Given the description of an element on the screen output the (x, y) to click on. 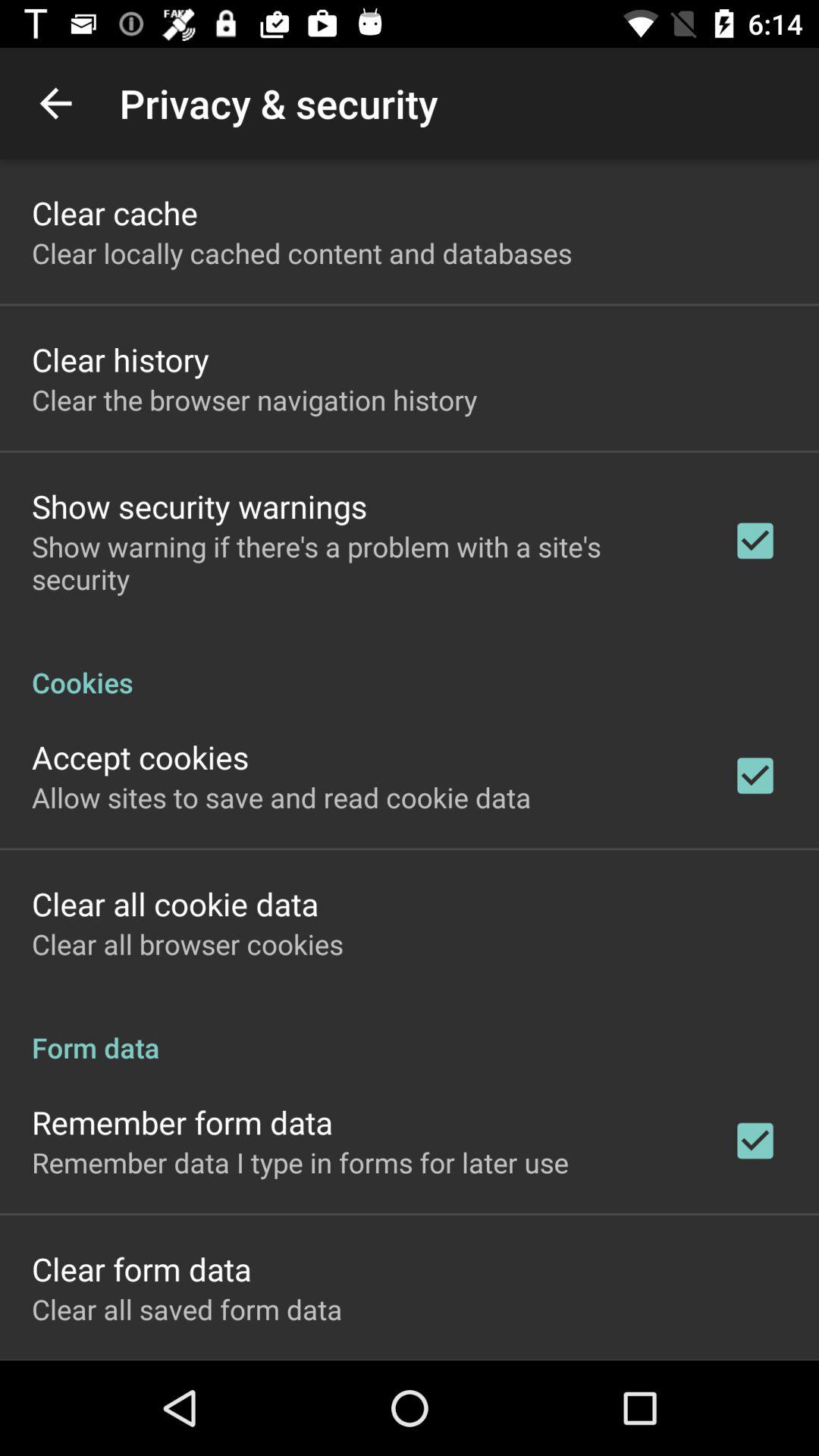
swipe to the show warning if app (361, 562)
